Given the description of an element on the screen output the (x, y) to click on. 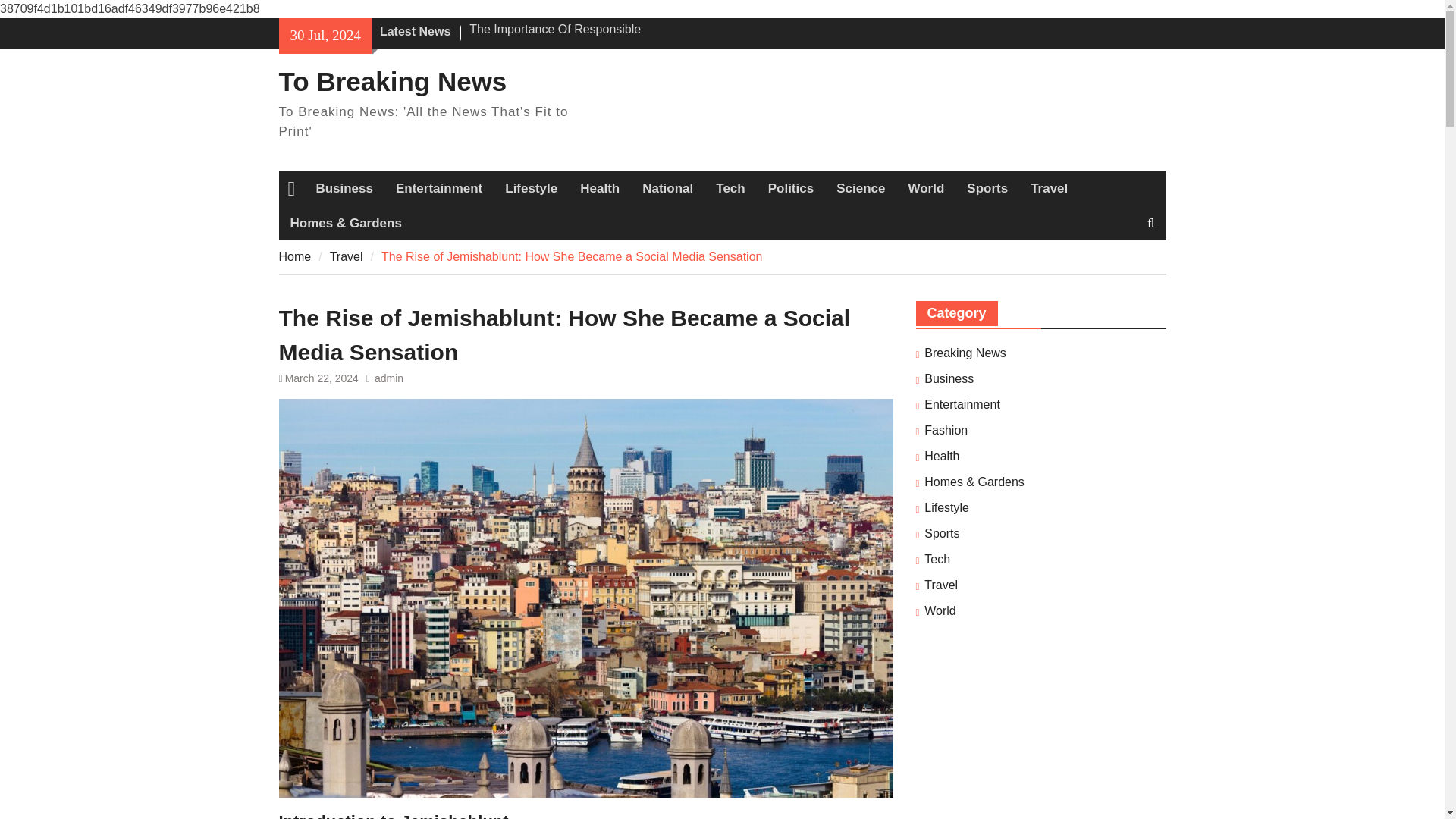
World (925, 188)
Health (599, 188)
Business (949, 379)
March 22, 2024 (321, 378)
Business (344, 188)
Travel (1048, 188)
Entertainment (438, 188)
Entertainment (962, 404)
Science (860, 188)
Politics (791, 188)
To Breaking News (392, 81)
Travel (346, 256)
Sports (987, 188)
Home (295, 256)
admin (388, 378)
